Given the description of an element on the screen output the (x, y) to click on. 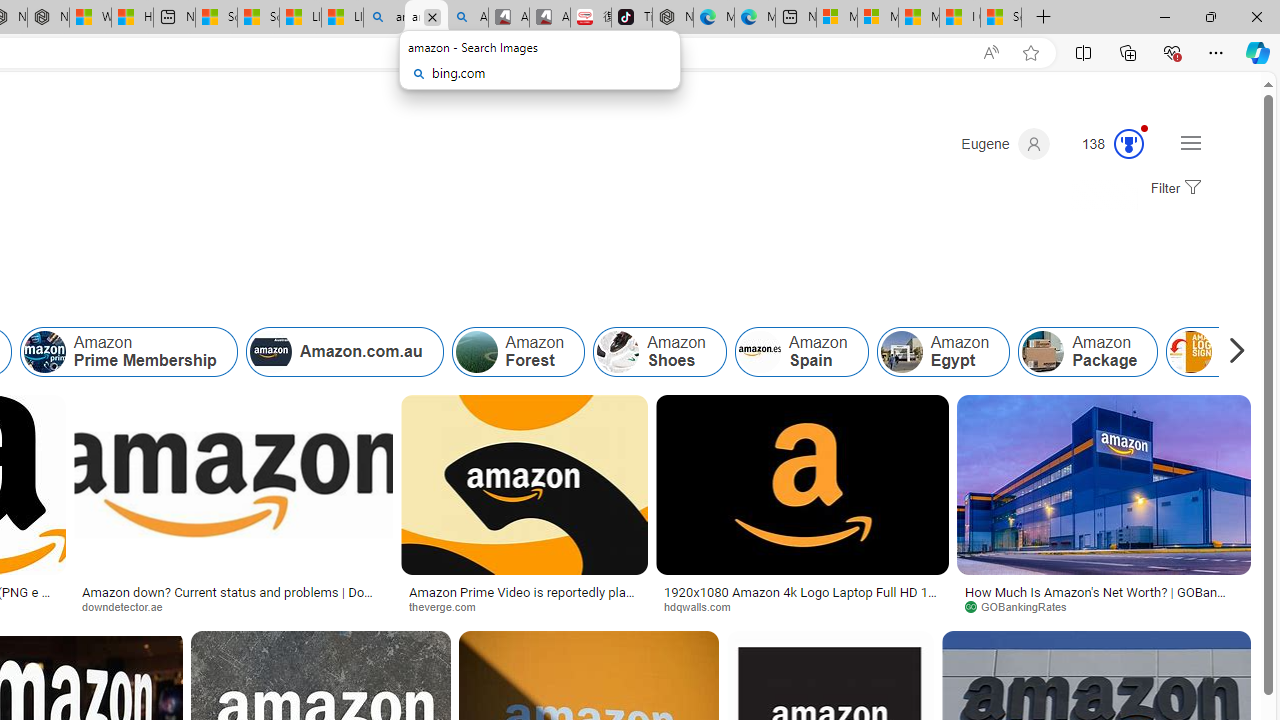
downdetector.ae (128, 605)
Amazon Package (1088, 351)
theverge.com (449, 605)
hdqwalls.com (802, 606)
Amazon Egypt (901, 351)
Microsoft Rewards 138 (1105, 143)
hdqwalls.com (704, 605)
